Given the description of an element on the screen output the (x, y) to click on. 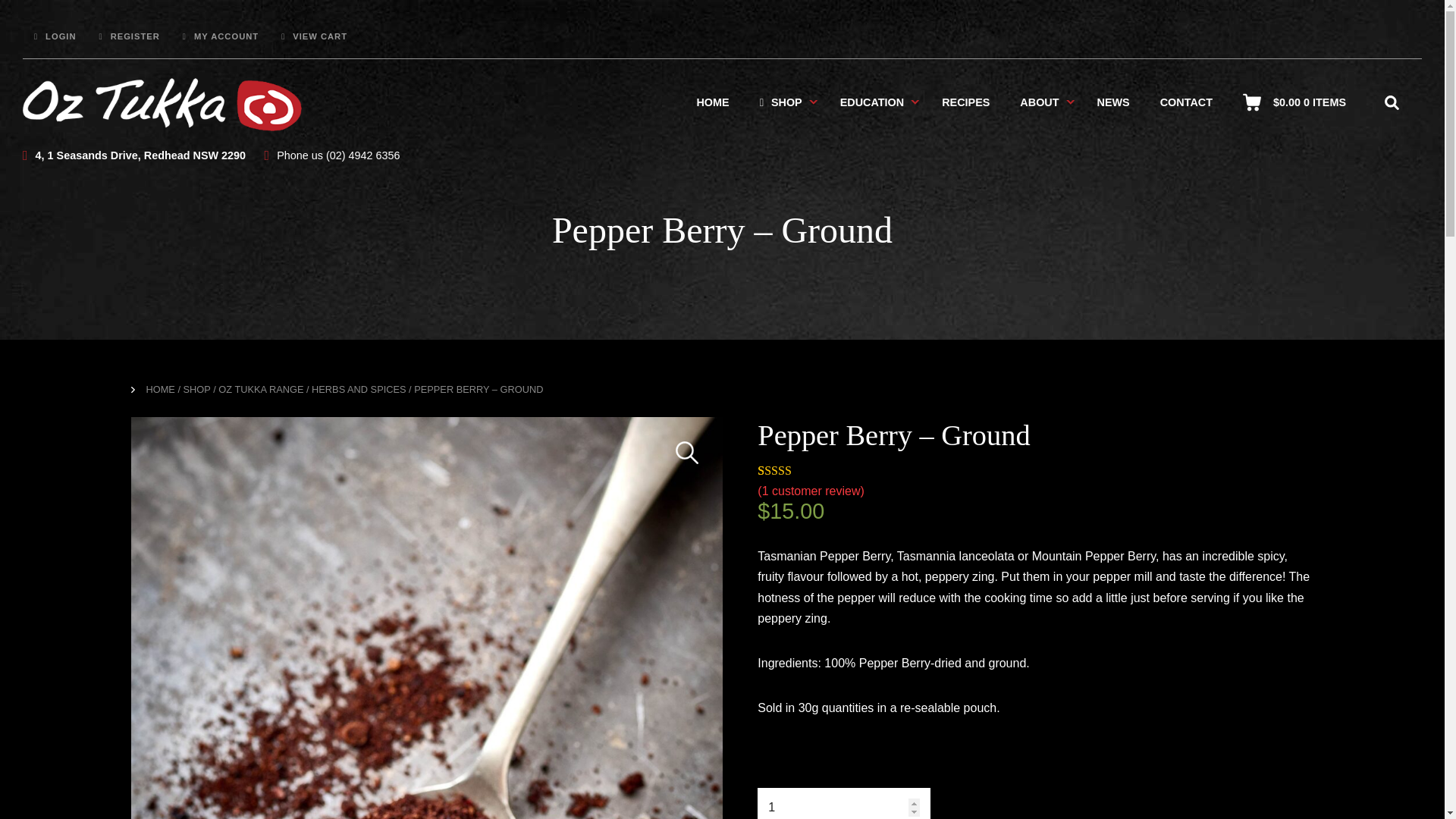
HOME (712, 101)
View your shopping cart (1309, 101)
MY ACCOUNT (221, 36)
LOGIN (55, 36)
1 (843, 803)
search (1390, 101)
4, 1 Seasands Drive, Redhead NSW 2290 (134, 155)
SHOP (780, 101)
VIEW CART (314, 36)
REGISTER (129, 36)
